Given the description of an element on the screen output the (x, y) to click on. 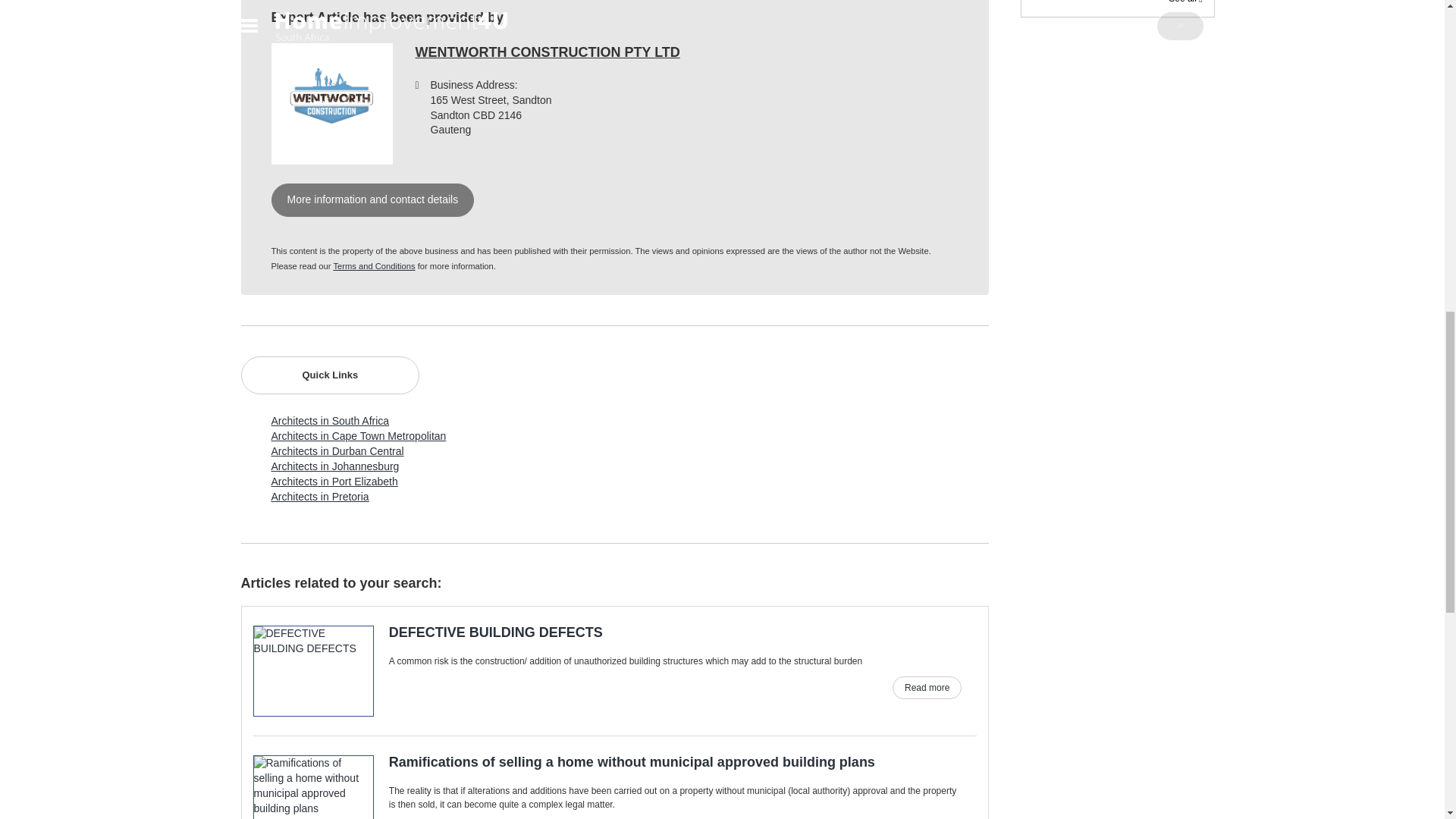
Architects in Port Elizabeth (333, 481)
Architects in Johannesburg (334, 466)
DEFECTIVE BUILDING DEFECTS (607, 632)
Architects in South Africa (330, 420)
Terms and Conditions (373, 266)
More information and contact details (372, 200)
Architects in Pretoria (319, 496)
Architects in Durban Central (337, 451)
WENTWORTH CONSTRUCTION PTY LTD (546, 52)
Architects in Cape Town Metropolitan (358, 435)
